Given the description of an element on the screen output the (x, y) to click on. 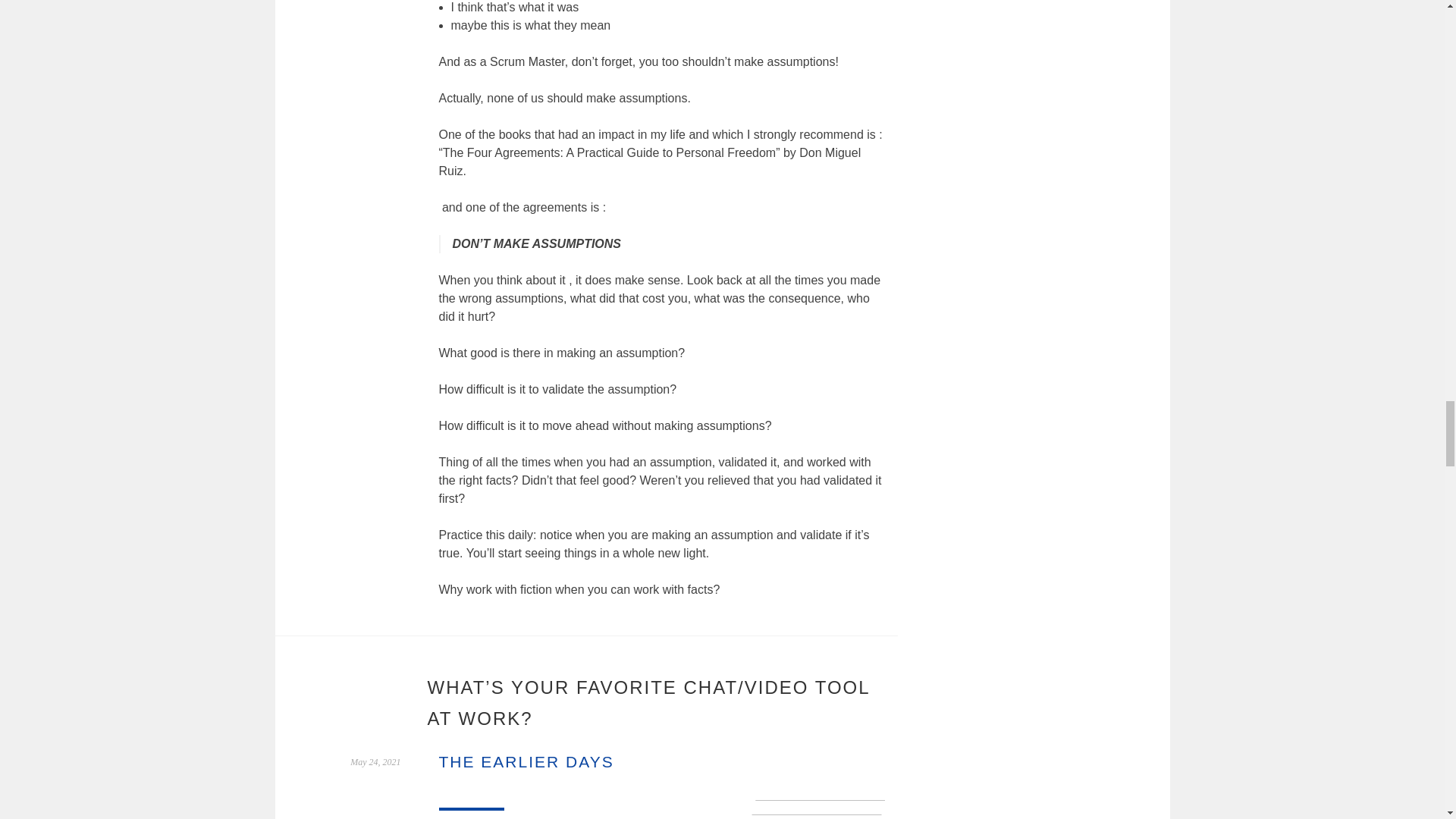
May 24, 2021 (375, 761)
